Given the description of an element on the screen output the (x, y) to click on. 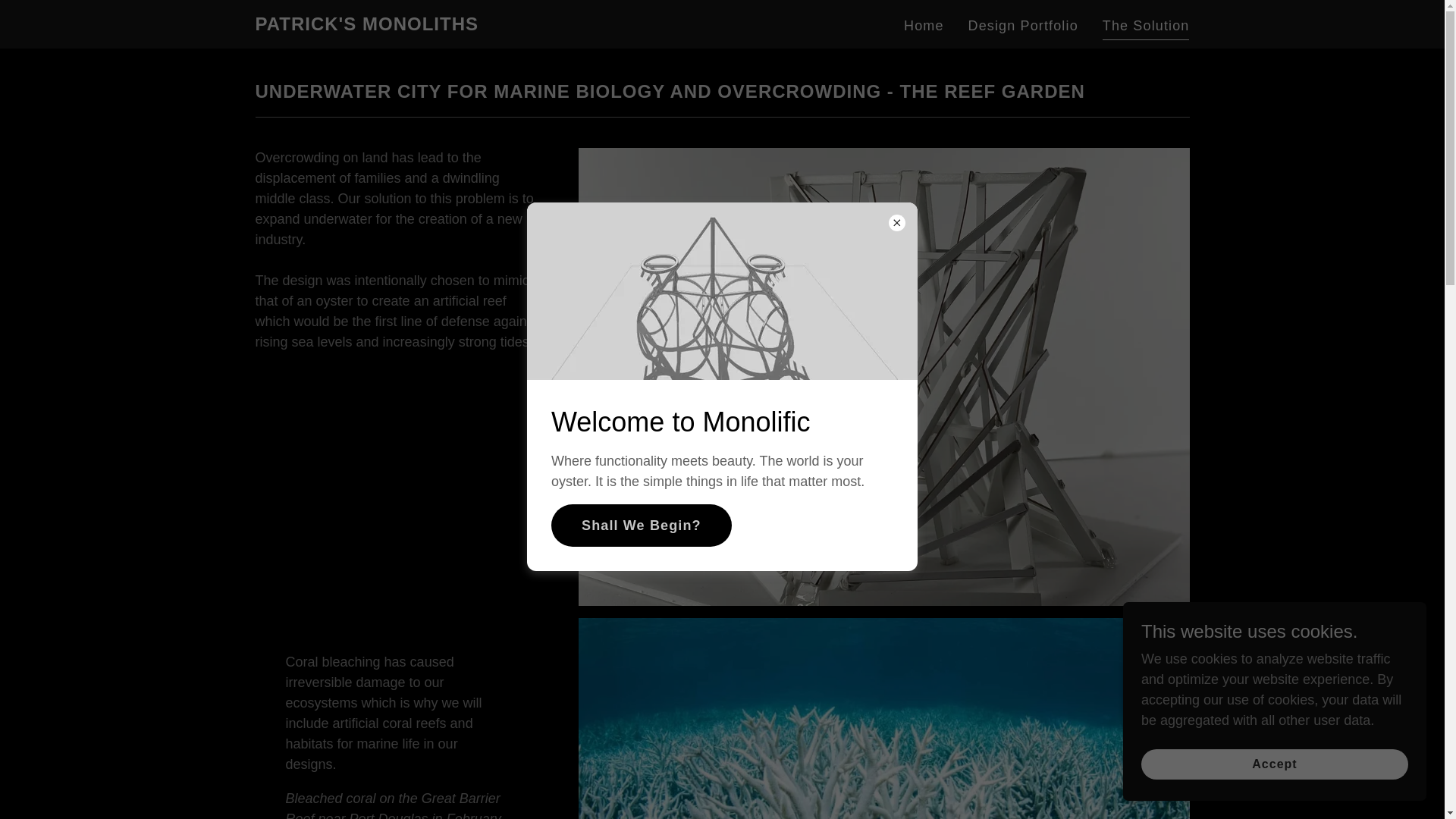
Patrick's Monoliths (365, 25)
Design Portfolio (1023, 25)
Accept (1274, 764)
PATRICK'S MONOLITHS (365, 25)
Shall We Begin? (641, 525)
The Solution (1145, 27)
Home (924, 25)
